Given the description of an element on the screen output the (x, y) to click on. 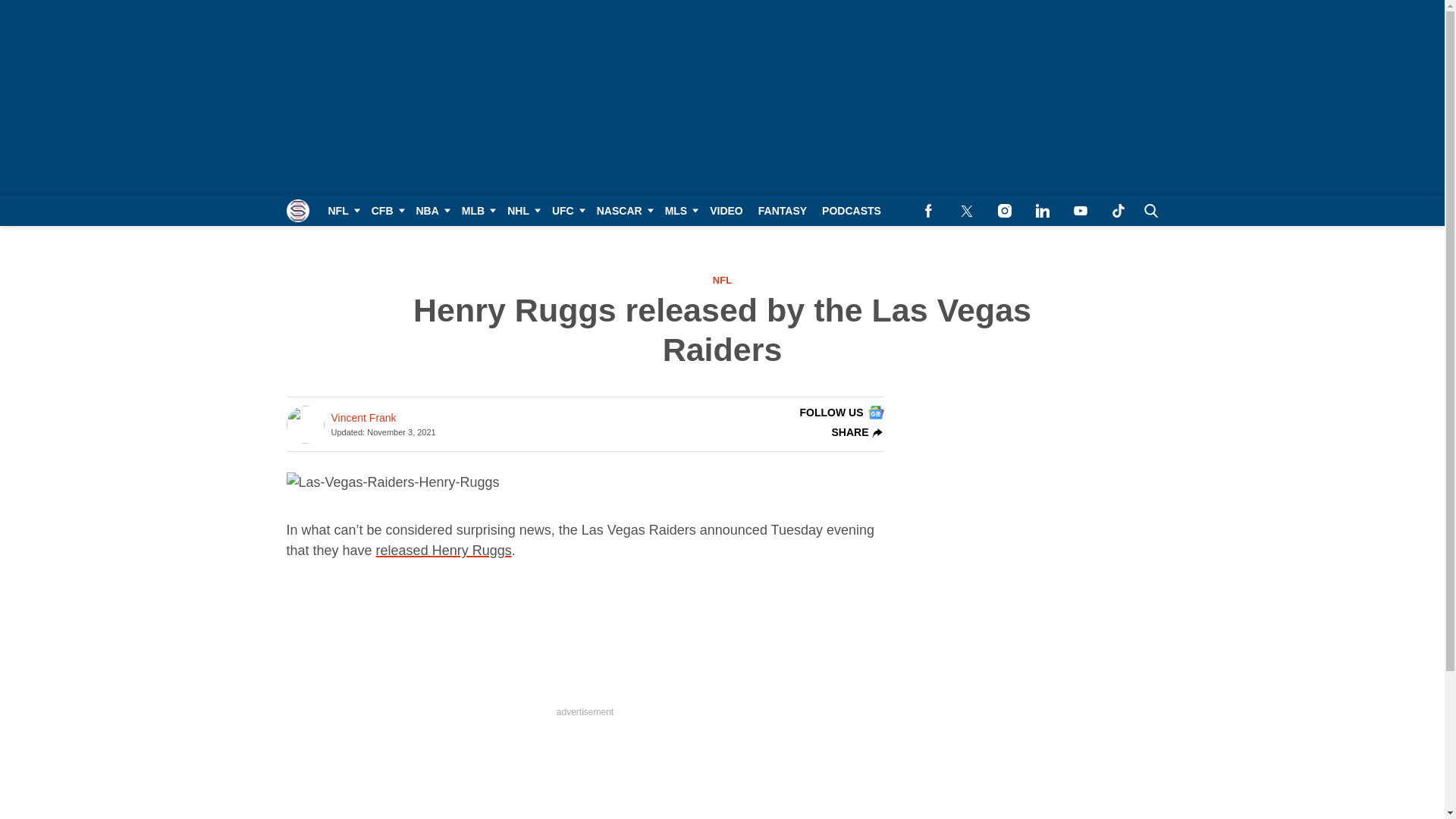
Posts by Vincent Frank (363, 417)
Follow us on Twitter (966, 210)
UFC (566, 210)
Subscribe to our TikTok channel (1118, 210)
NHL (521, 210)
Follow us on Instagram (1004, 210)
Subscribe to our YouTube channel (1080, 210)
MLB (476, 210)
Connect with us on LinkedIn (1042, 210)
NBA (429, 210)
